Given the description of an element on the screen output the (x, y) to click on. 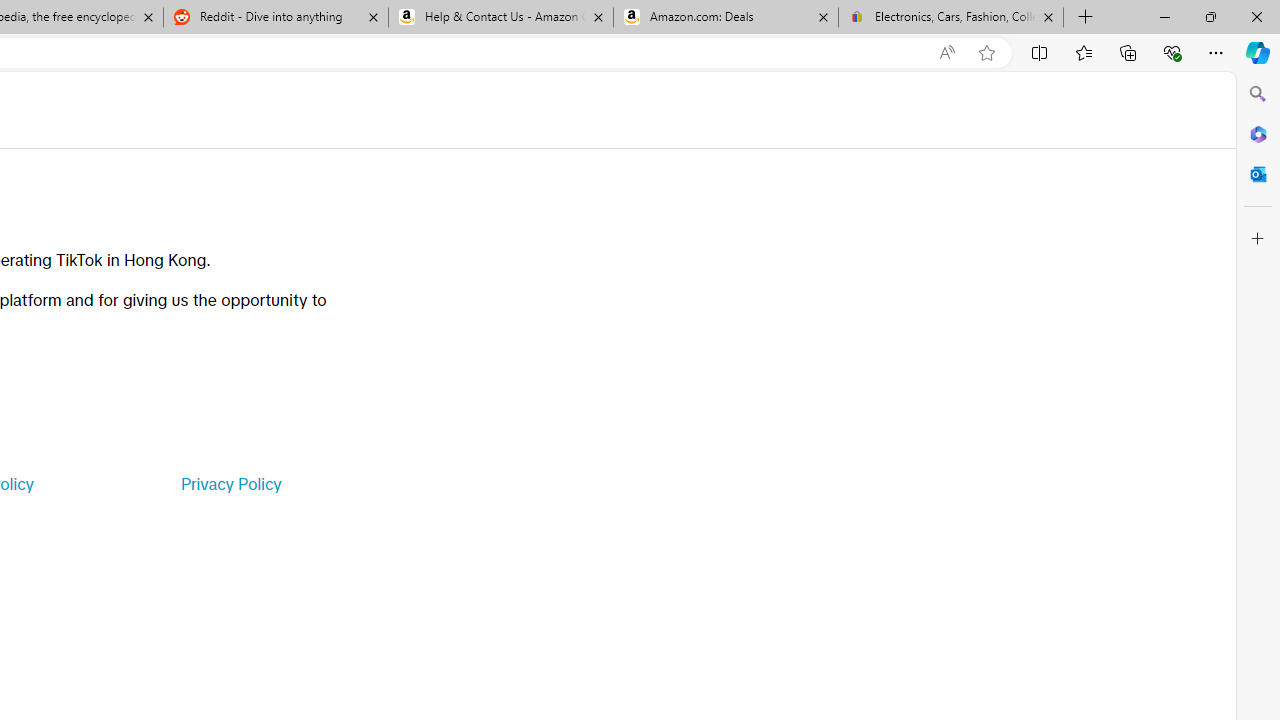
Privacy Policy (230, 484)
Amazon.com: Deals (726, 17)
